Given the description of an element on the screen output the (x, y) to click on. 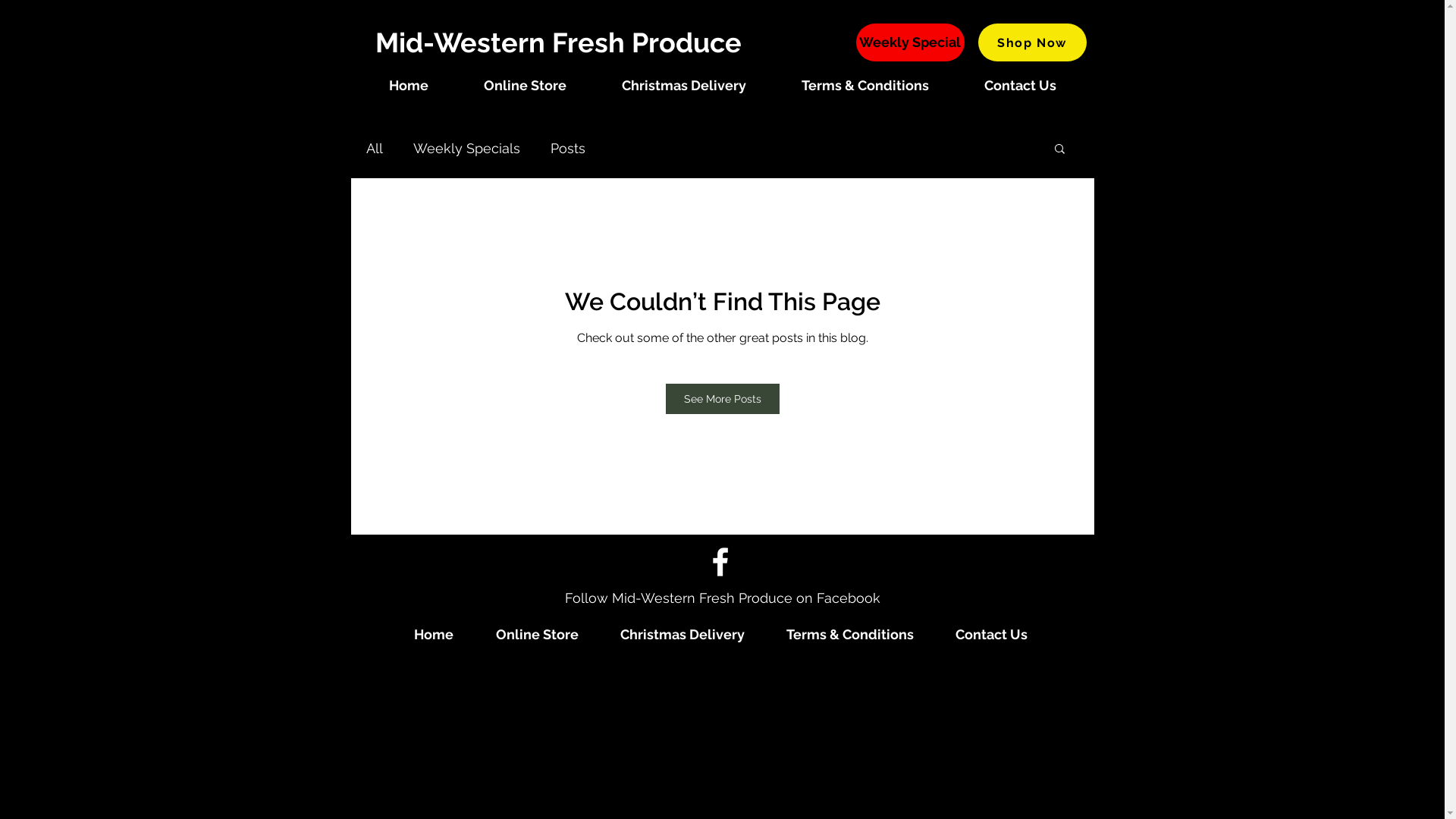
Terms & Conditions Element type: text (850, 634)
Contact Us Element type: text (1020, 85)
See More Posts Element type: text (722, 398)
Home Element type: text (433, 634)
Christmas Delivery Element type: text (684, 85)
Posts Element type: text (567, 147)
Online Store Element type: text (525, 85)
Christmas Delivery Element type: text (682, 634)
Terms & Conditions Element type: text (864, 85)
Weekly Specials Element type: text (465, 147)
Weekly Special Element type: text (909, 42)
Contact Us Element type: text (991, 634)
Online Store Element type: text (536, 634)
All Element type: text (373, 147)
Home Element type: text (408, 85)
Shop Now Element type: text (1032, 42)
